Given the description of an element on the screen output the (x, y) to click on. 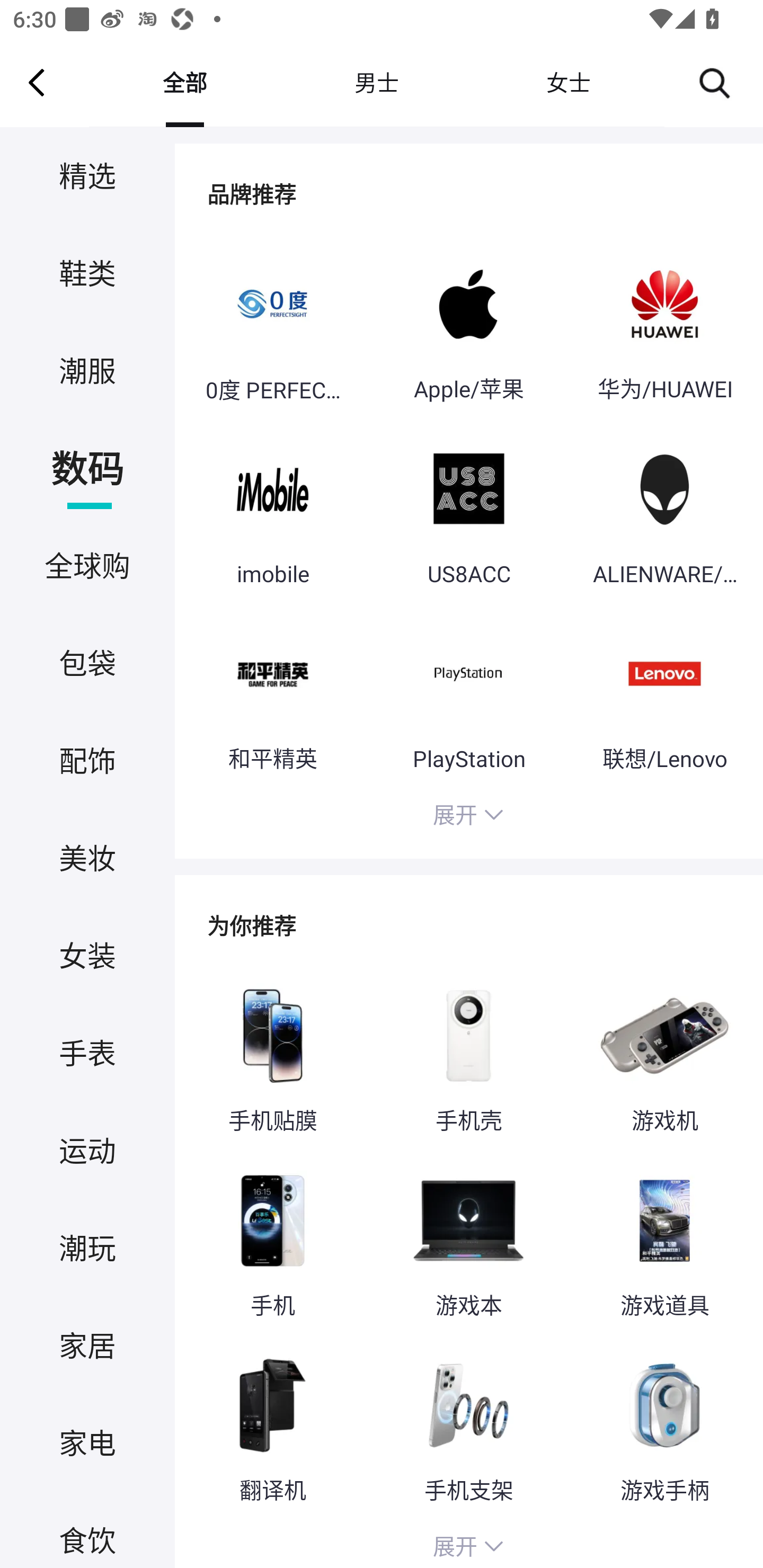
Navigate up (36, 82)
全部 (184, 82)
男士 (376, 82)
女士 (568, 82)
0度 PERFECTSIGHT (272, 325)
Apple/苹果 (468, 325)
华为/HUAWEI (664, 325)
imobile (272, 510)
US8ACC (468, 510)
ALIENWARE/外星人 (664, 510)
和平精英 (272, 694)
PlayStation (468, 694)
联想/Lenovo (664, 694)
展开  (468, 817)
手机贴膜 (272, 1056)
手机壳 (468, 1056)
游戏机 (664, 1056)
手机 (272, 1241)
游戏本 (468, 1241)
游戏道具 (664, 1241)
翻译机 (272, 1426)
手机支架 (468, 1426)
游戏手柄 (664, 1426)
展开  (468, 1543)
